Given the description of an element on the screen output the (x, y) to click on. 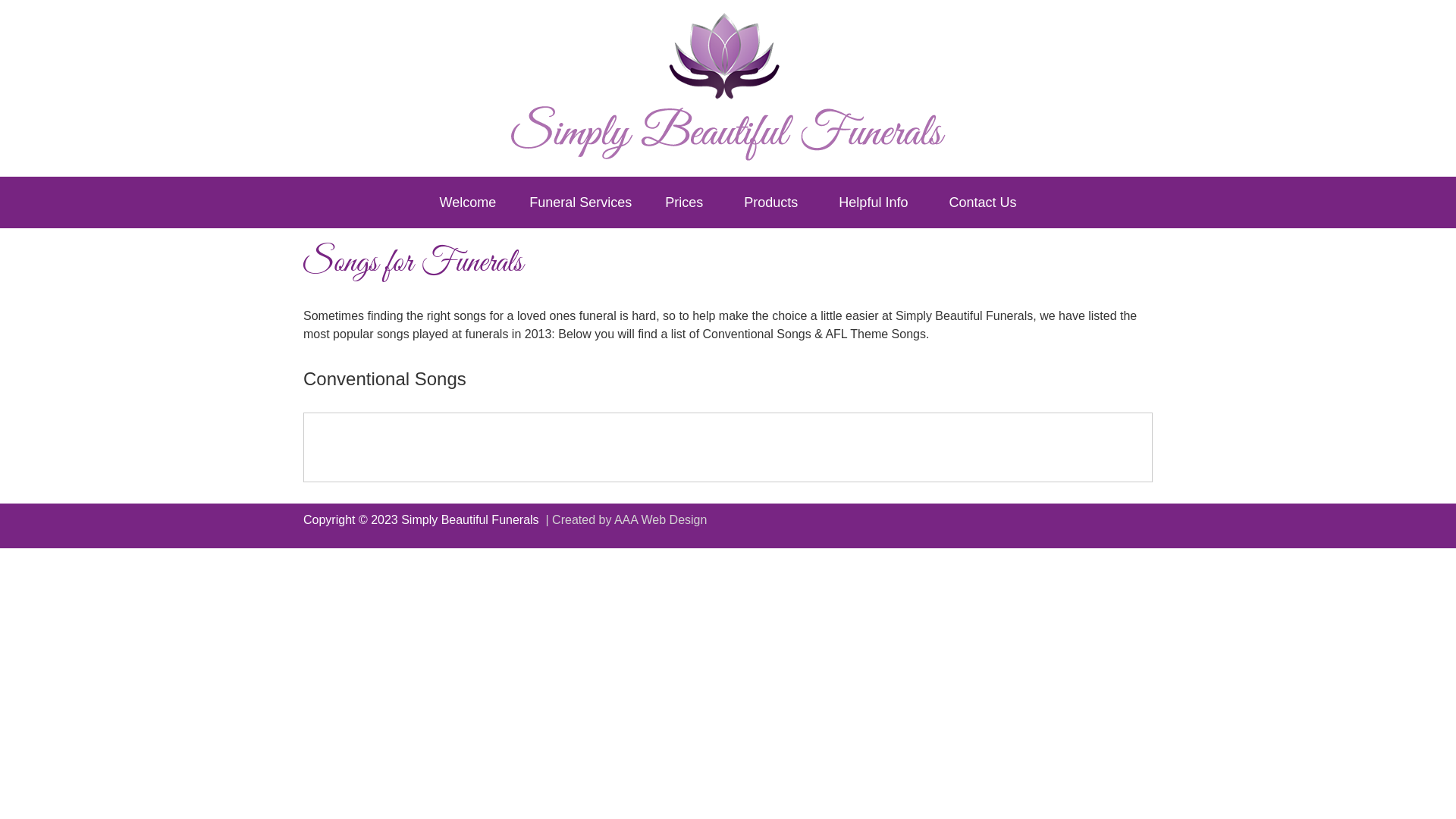
Welcome Element type: text (468, 202)
| Created by AAA Web Design Element type: text (624, 519)
Contact Us Element type: text (982, 202)
Helpful Info Element type: text (876, 202)
Prices Element type: text (687, 202)
Funeral Services Element type: text (580, 202)
Products Element type: text (774, 202)
